Given the description of an element on the screen output the (x, y) to click on. 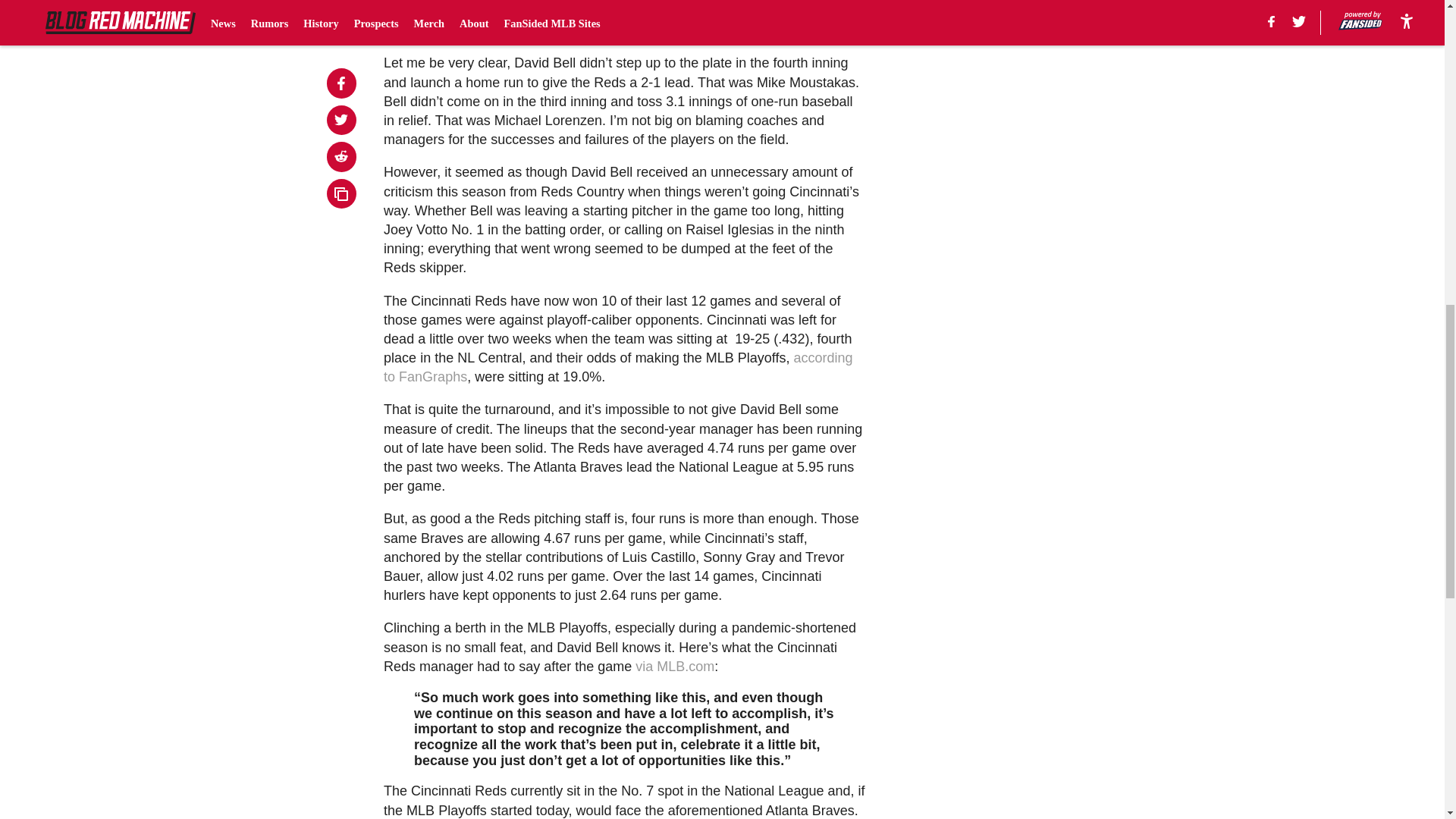
according to FanGraphs (617, 367)
via MLB.com (674, 666)
